Given the description of an element on the screen output the (x, y) to click on. 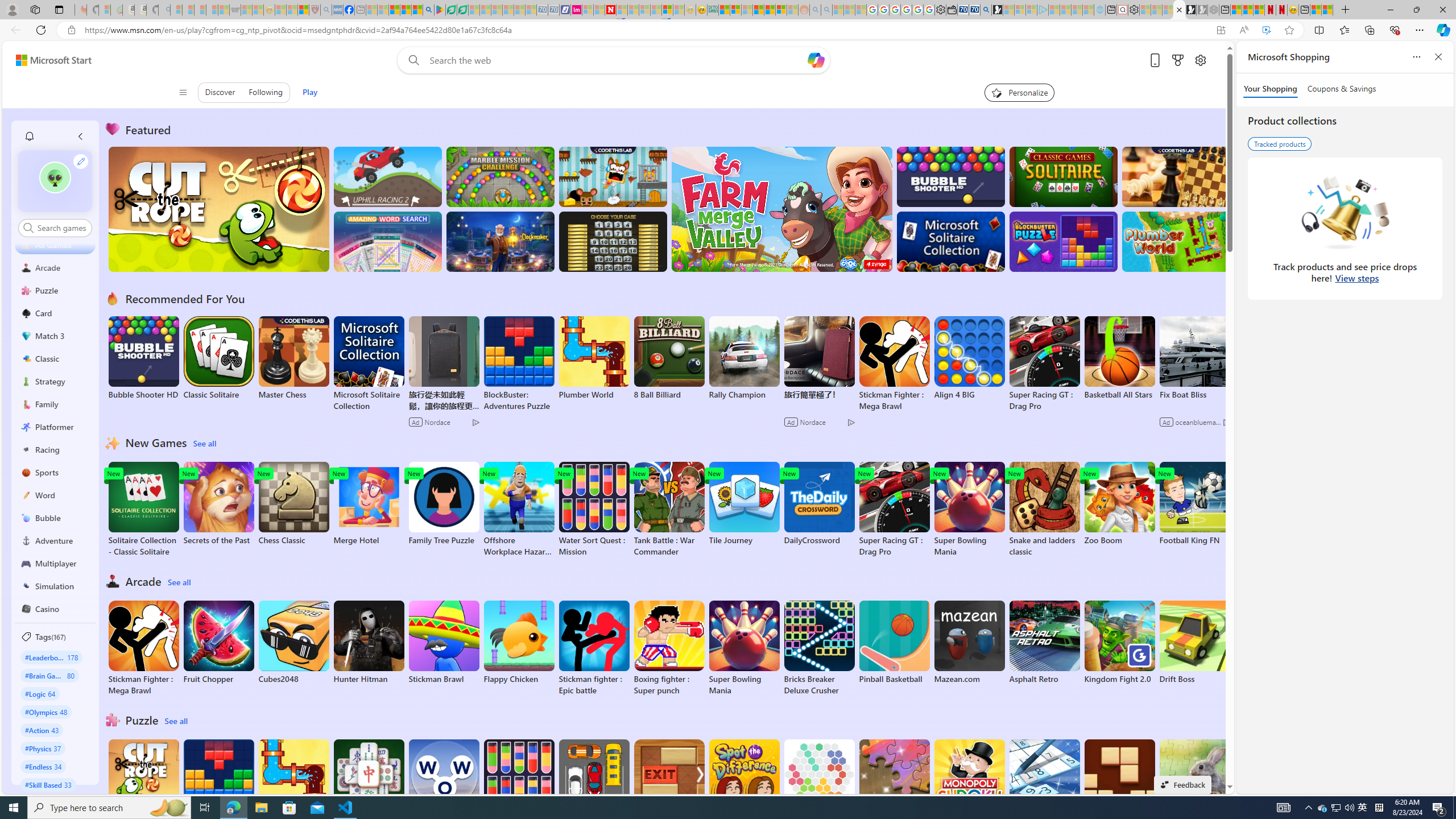
Enhance video (1266, 29)
#Physics 37 (42, 748)
Pinball Basketball (894, 642)
Football King FN (1194, 503)
#Olympics 48 (46, 711)
Local - MSN (303, 9)
Solitaire Collection - Classic Solitaire (143, 509)
